Given the description of an element on the screen output the (x, y) to click on. 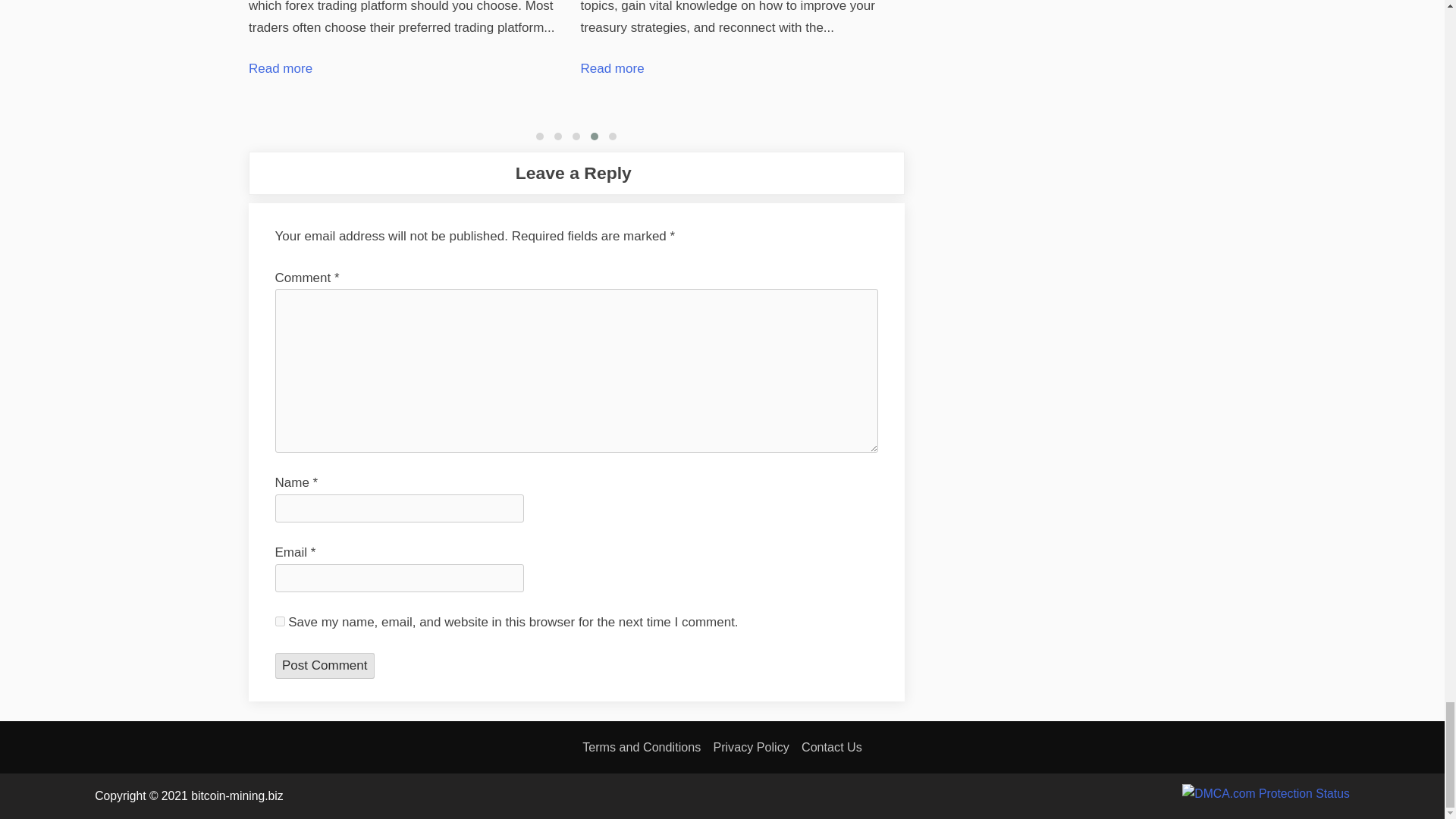
yes (279, 621)
Post Comment (324, 665)
